Given the description of an element on the screen output the (x, y) to click on. 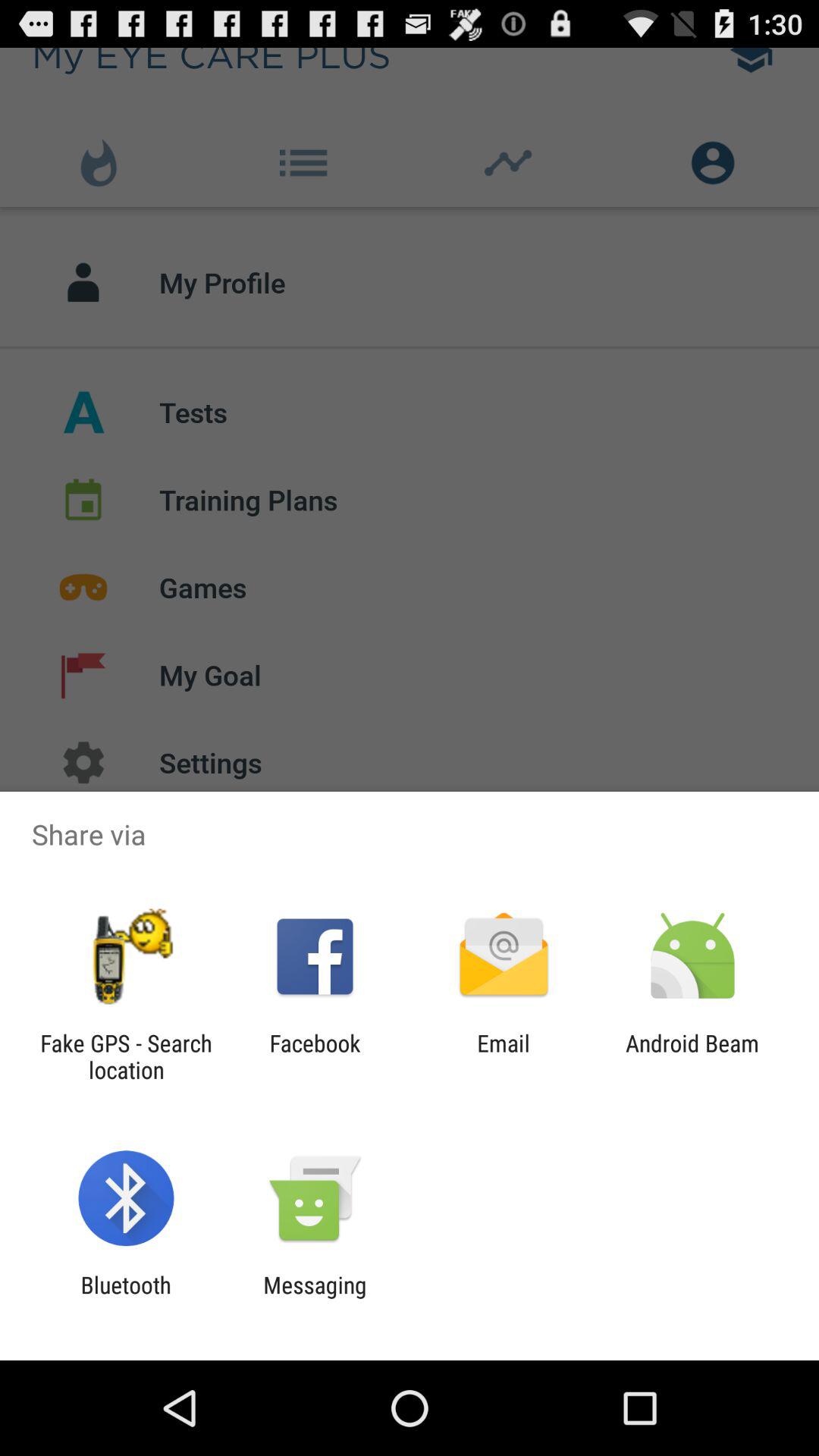
swipe until email item (503, 1056)
